Given the description of an element on the screen output the (x, y) to click on. 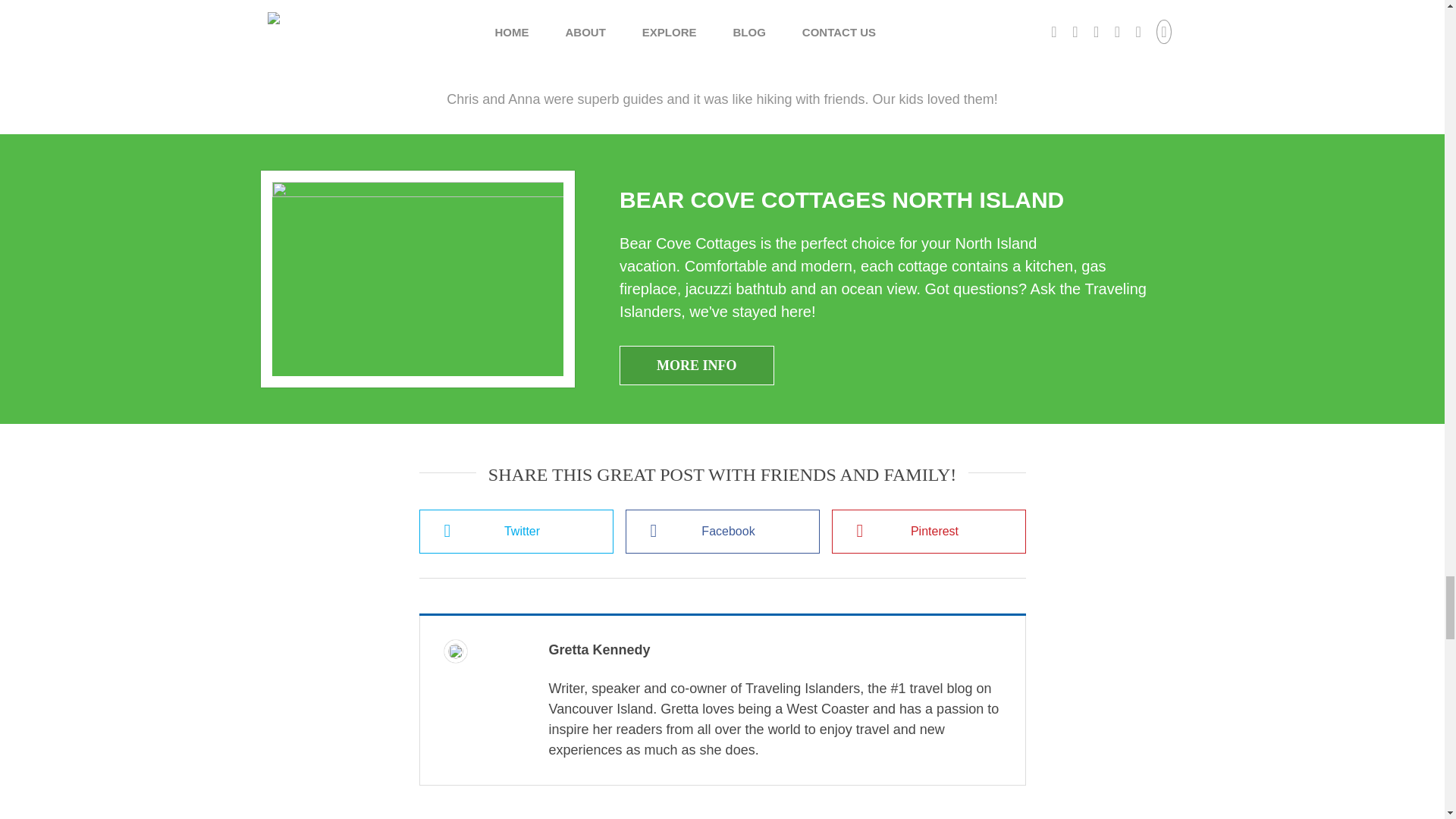
Pinterest (928, 531)
MORE INFO (697, 364)
BEAR COVE COTTAGES NORTH ISLAND (842, 199)
Twitter (515, 531)
Facebook (721, 531)
